Given the description of an element on the screen output the (x, y) to click on. 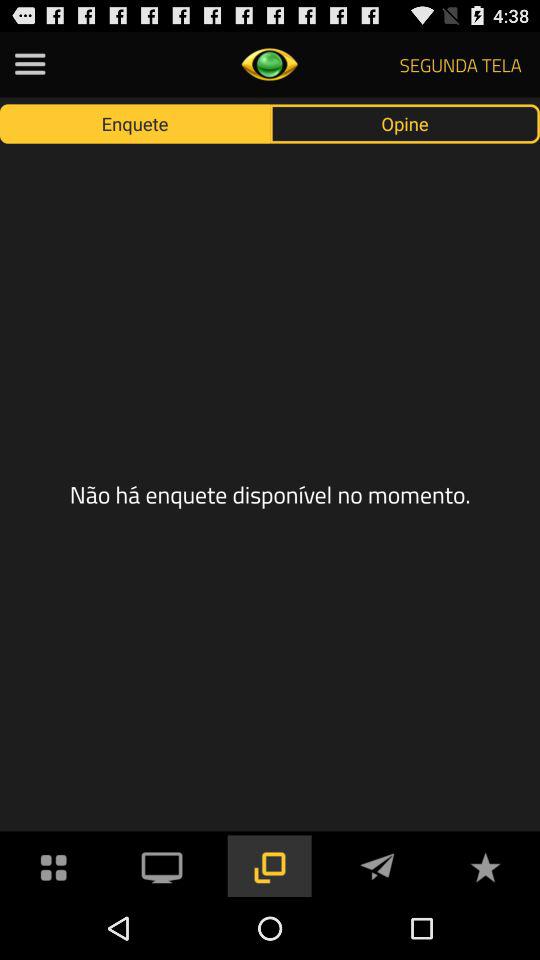
cast (162, 865)
